Given the description of an element on the screen output the (x, y) to click on. 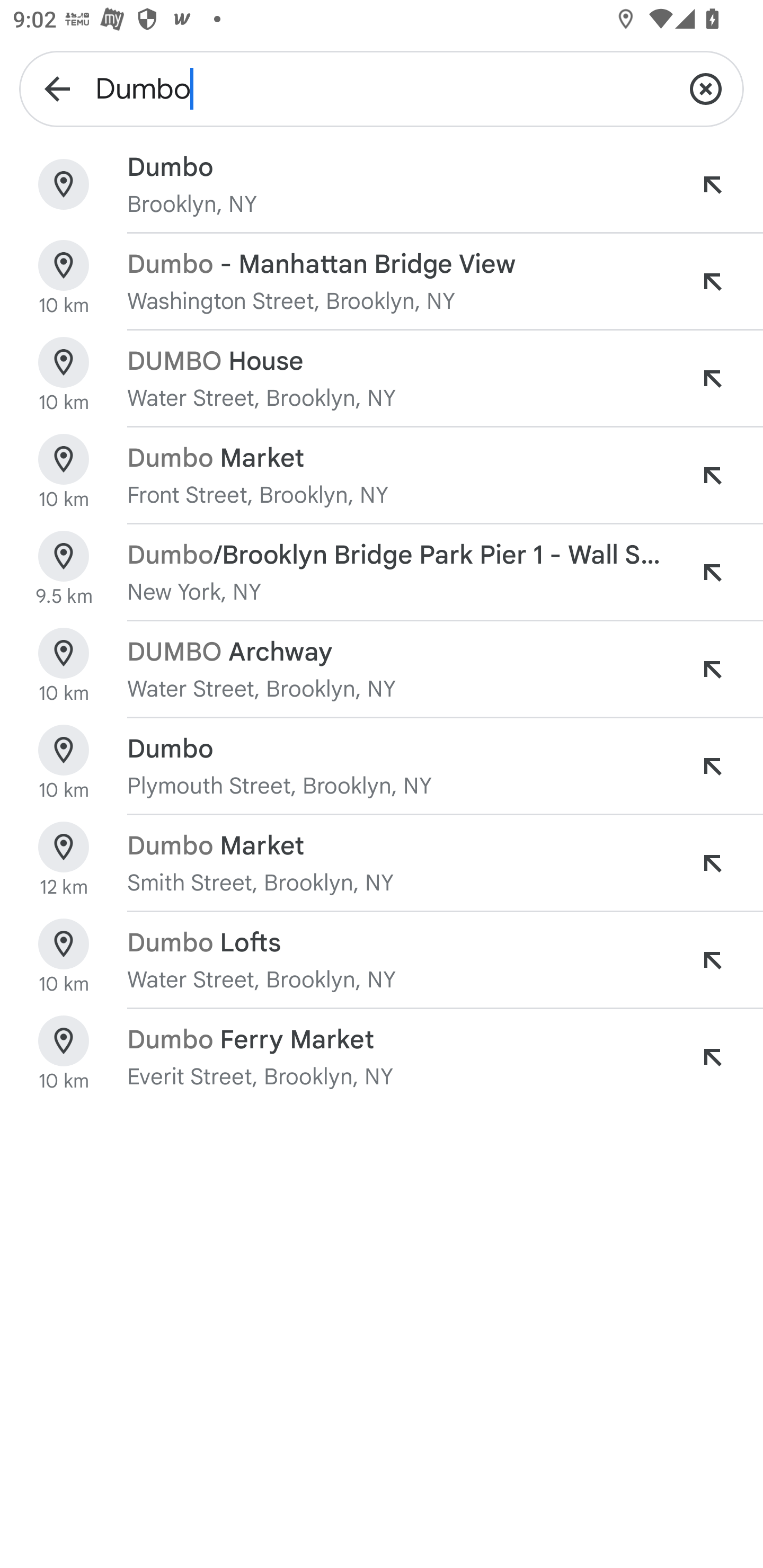
Navigate up (57, 88)
Dumbo (381, 88)
Clear (705, 88)
Activate to enter suggestion Dumbo into search bar (711, 183)
Activate to enter suggestion Dumbo into search bar (711, 765)
